Given the description of an element on the screen output the (x, y) to click on. 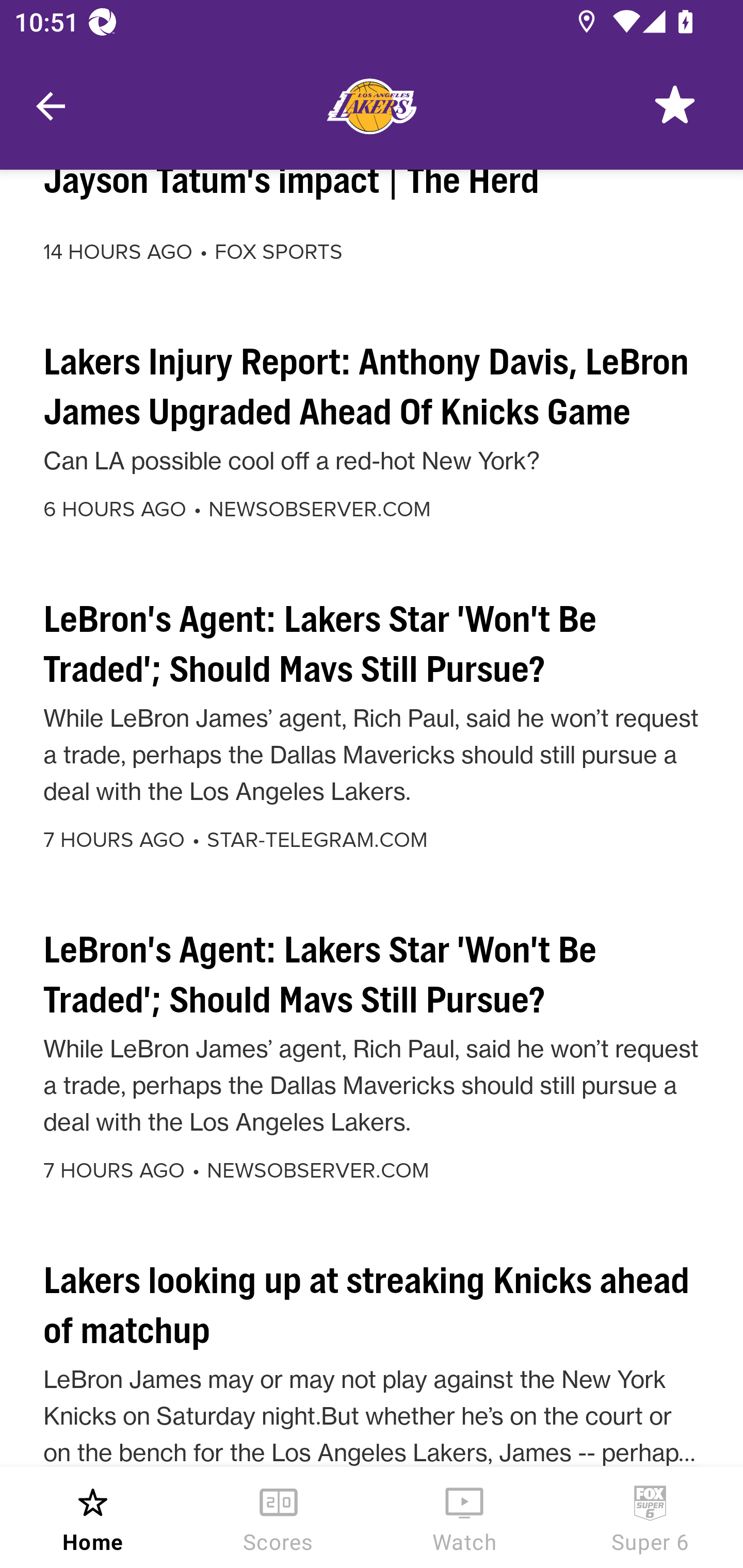
Navigate up (50, 106)
Scores (278, 1517)
Watch (464, 1517)
Super 6 (650, 1517)
